Given the description of an element on the screen output the (x, y) to click on. 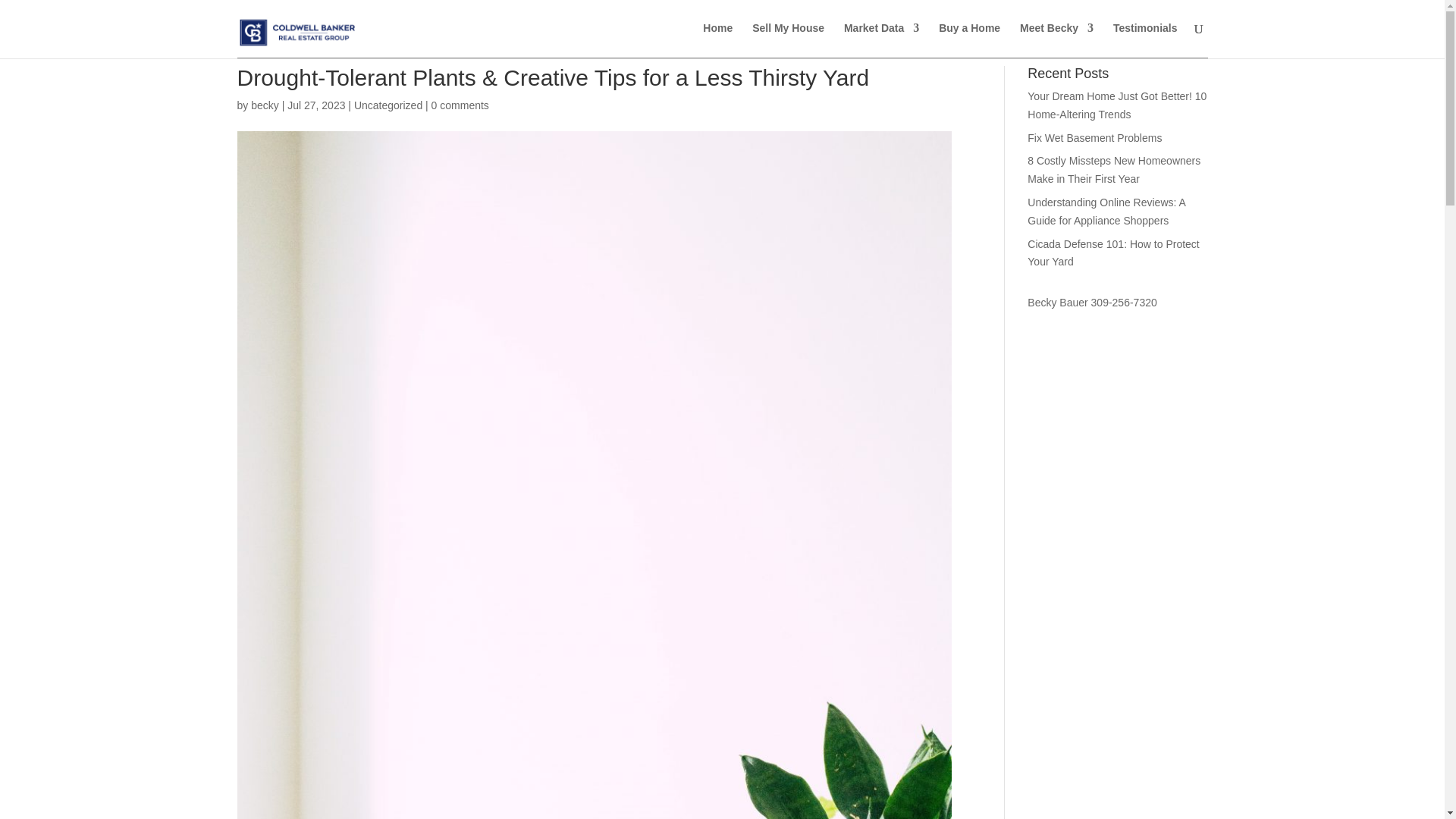
Posts by becky (264, 105)
Testimonials (1145, 40)
Sell My House (788, 40)
Market Data (881, 40)
Meet Becky (1056, 40)
Buy a Home (969, 40)
